Given the description of an element on the screen output the (x, y) to click on. 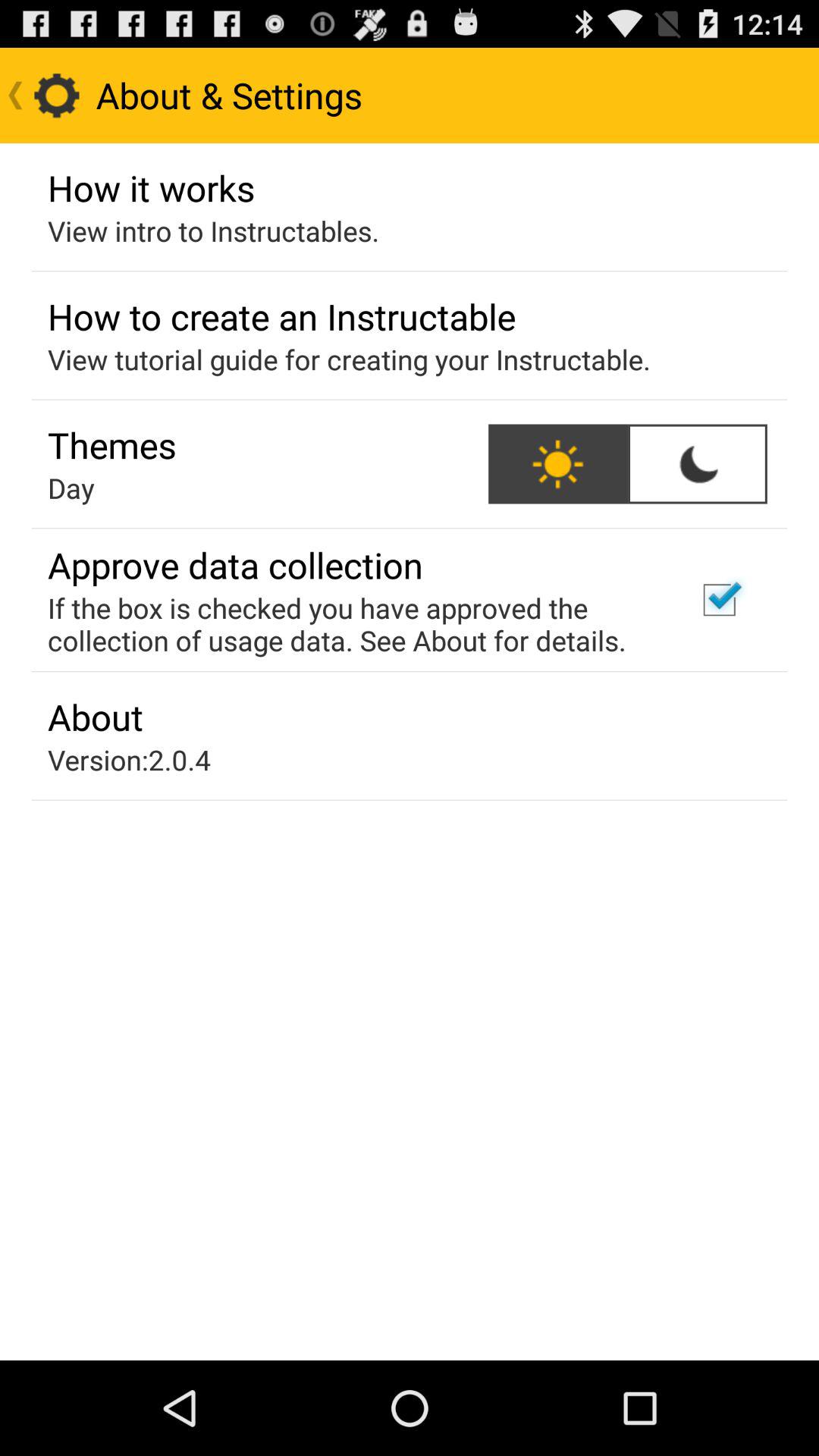
press app below the view tutorial guide (111, 444)
